Given the description of an element on the screen output the (x, y) to click on. 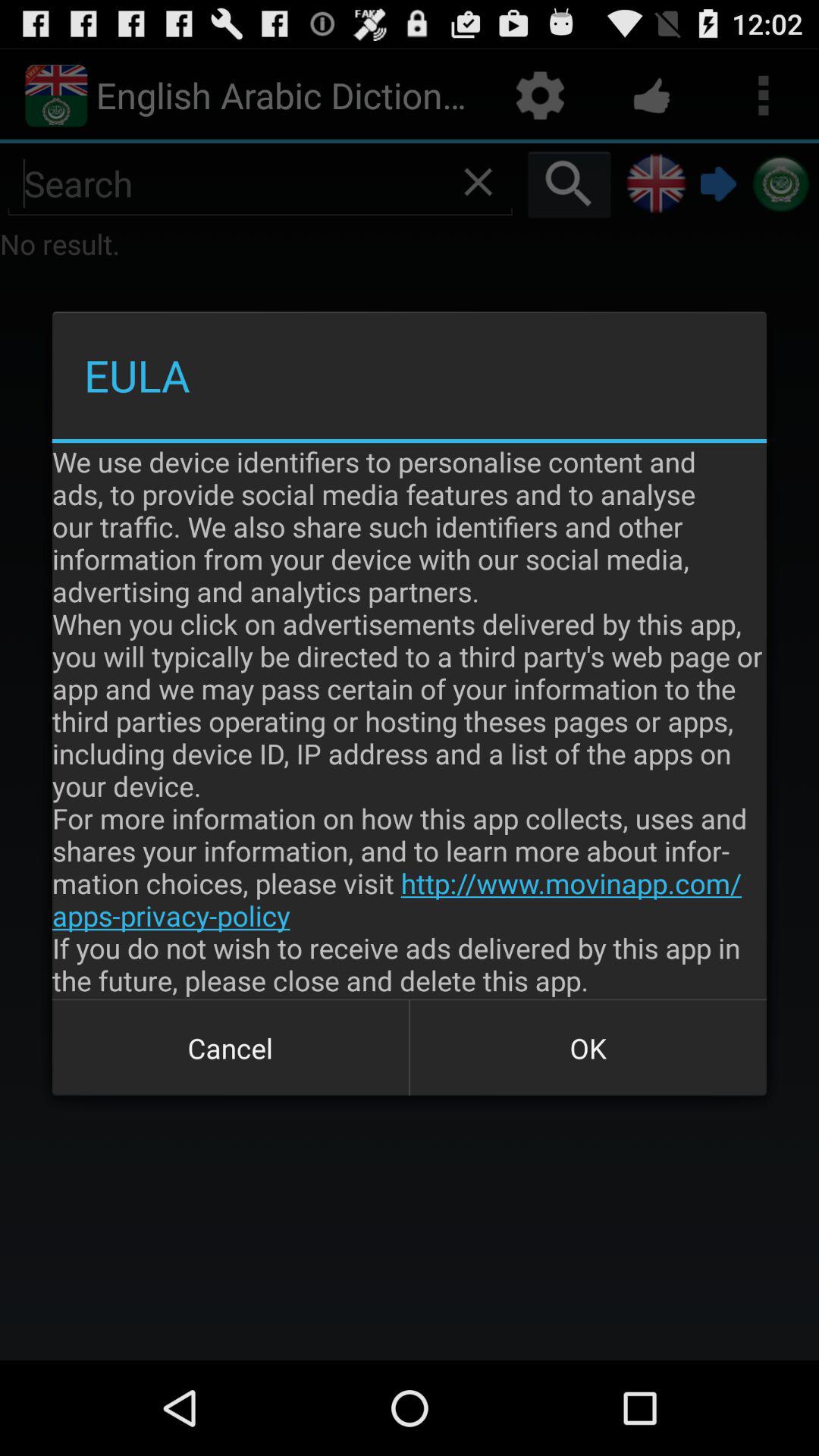
turn on item to the left of the ok button (230, 1047)
